Given the description of an element on the screen output the (x, y) to click on. 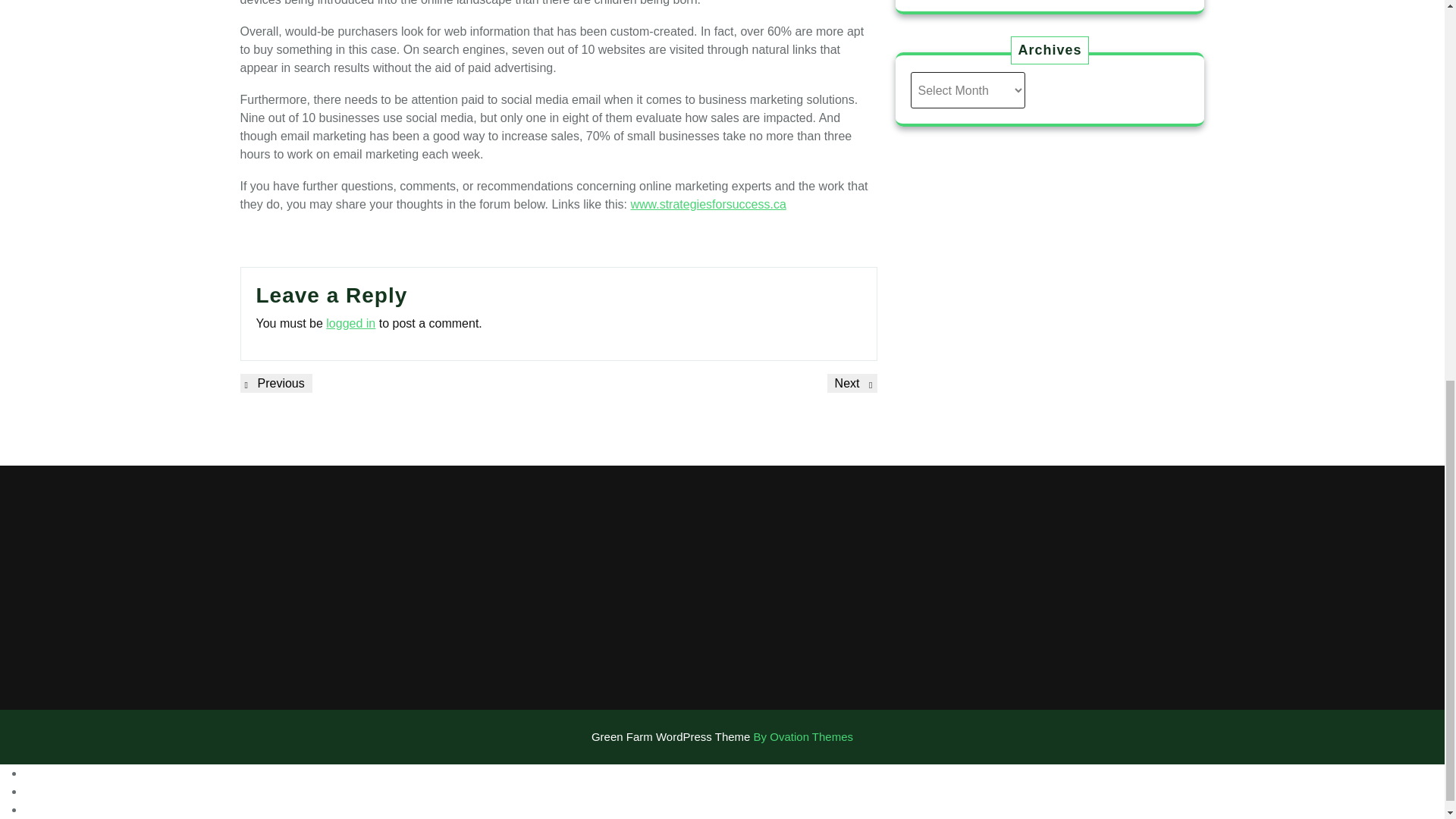
logged in (852, 383)
www.strategiesforsuccess.ca (350, 323)
Marketing companies calgary (275, 383)
Green Farm WordPress Theme By Ovation Themes (708, 204)
